Given the description of an element on the screen output the (x, y) to click on. 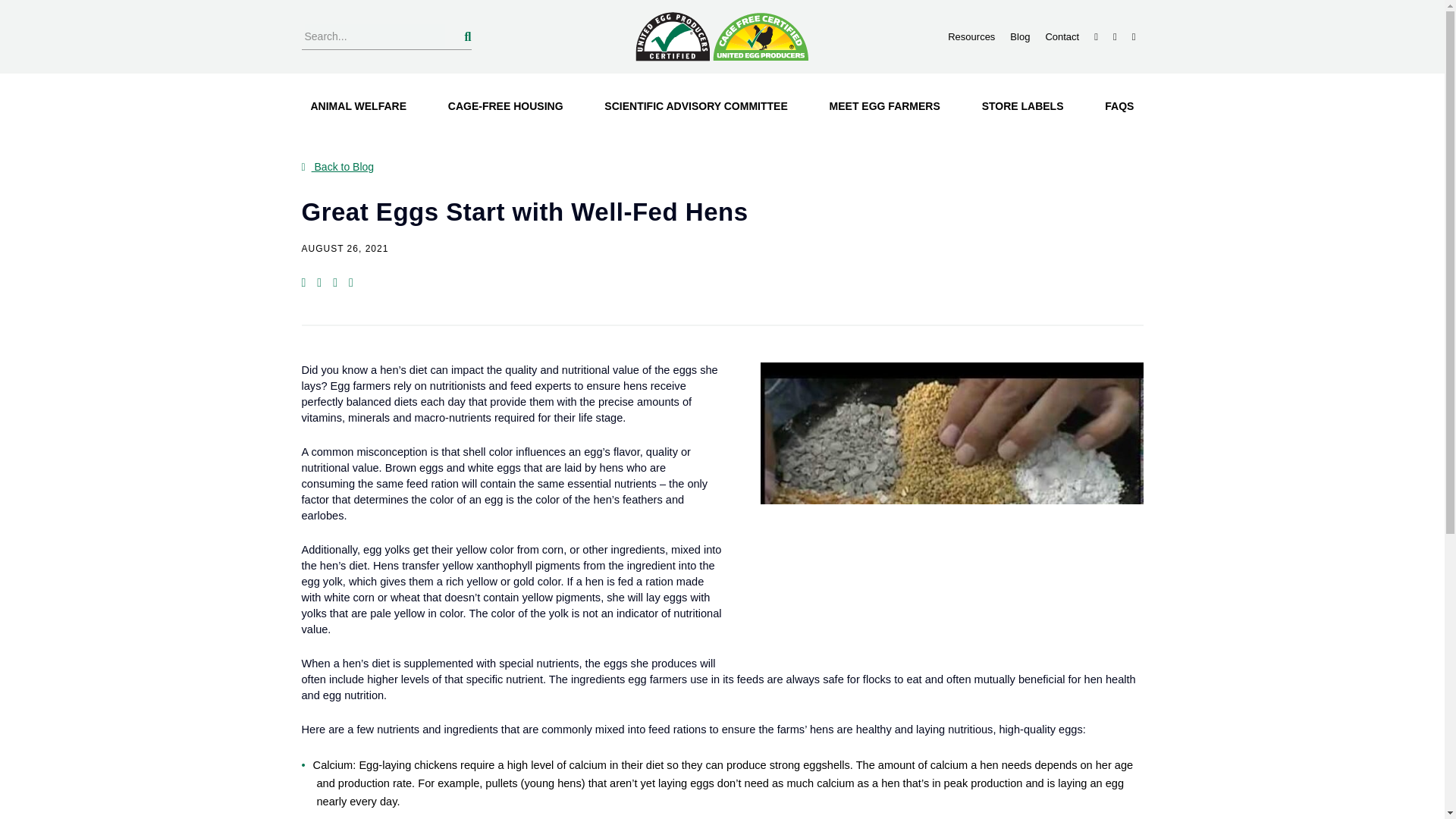
CAGE-FREE HOUSING (505, 106)
STORE LABELS (1022, 106)
ANIMAL WELFARE (358, 106)
Back to Blog (337, 166)
SCIENTIFIC ADVISORY COMMITTEE (695, 106)
Blog (1019, 36)
Contact (1061, 36)
MEET EGG FARMERS (885, 106)
Search Site (374, 36)
Blog (1019, 36)
